Given the description of an element on the screen output the (x, y) to click on. 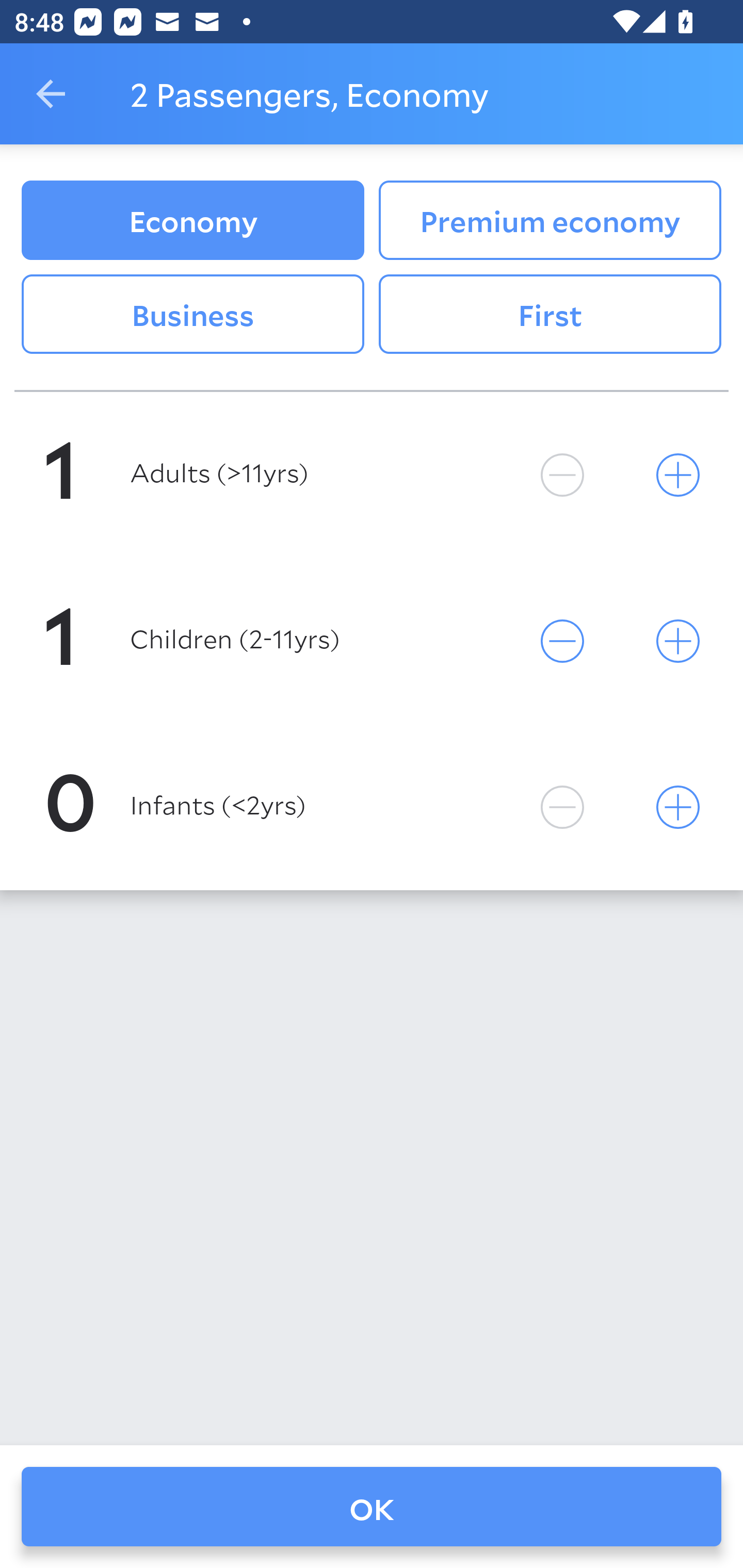
Navigate up (50, 93)
Economy (192, 220)
Premium economy (549, 220)
Business (192, 314)
First (549, 314)
OK (371, 1506)
